Given the description of an element on the screen output the (x, y) to click on. 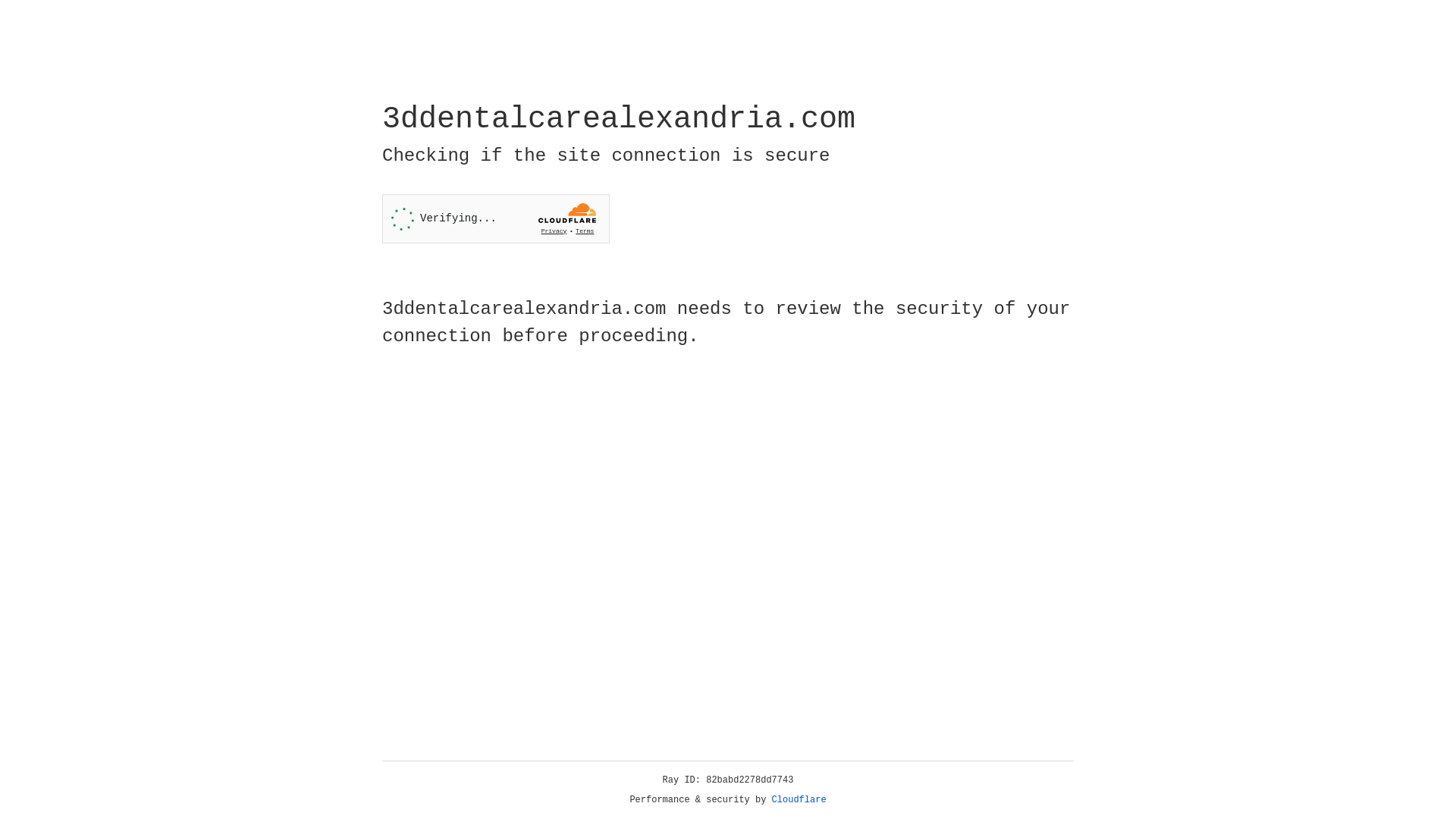
Cloudflare Element type: text (798, 799)
Widget containing a Cloudflare security challenge Element type: hover (495, 218)
